Given the description of an element on the screen output the (x, y) to click on. 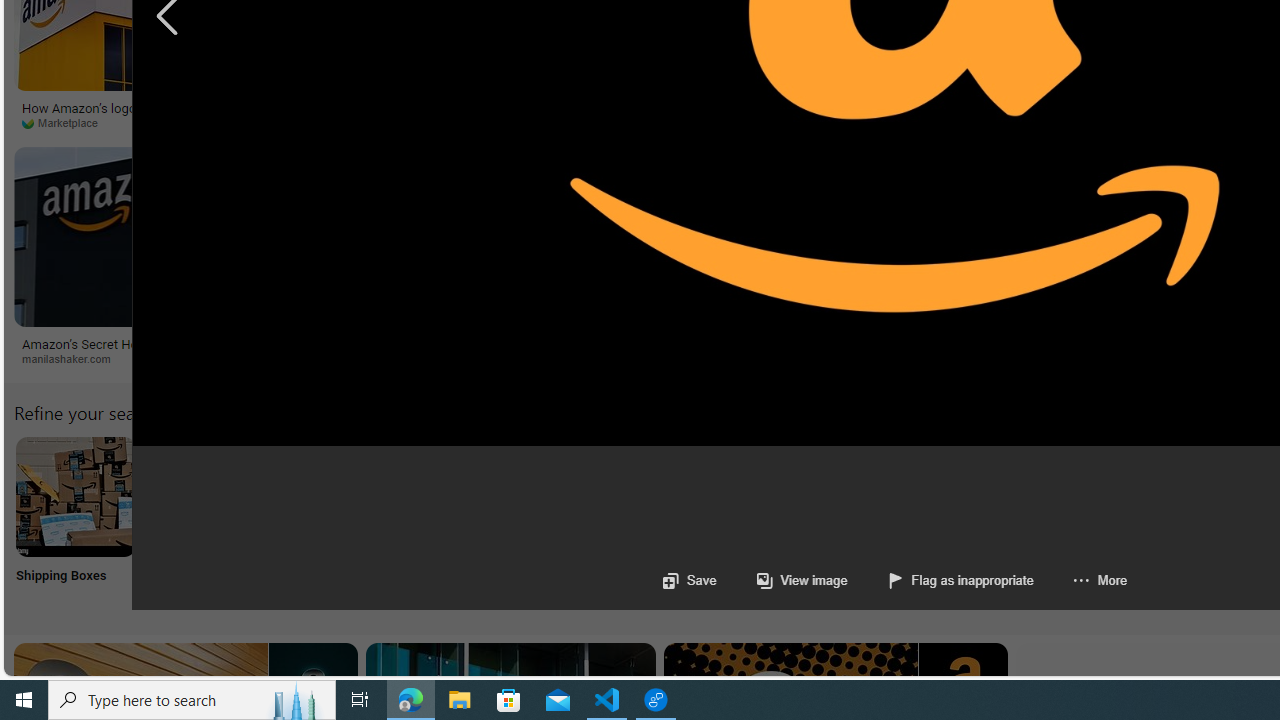
Long Island Press (470, 123)
Amazon Package Delivery (735, 496)
Amazon Retail Store Retail Store (867, 521)
Amazon Wish List (999, 496)
Online Shopping Search (207, 521)
cordcuttersnews.com (412, 358)
vecteezy.com (1016, 123)
Image result for amazon (820, 236)
View image (781, 580)
